Given the description of an element on the screen output the (x, y) to click on. 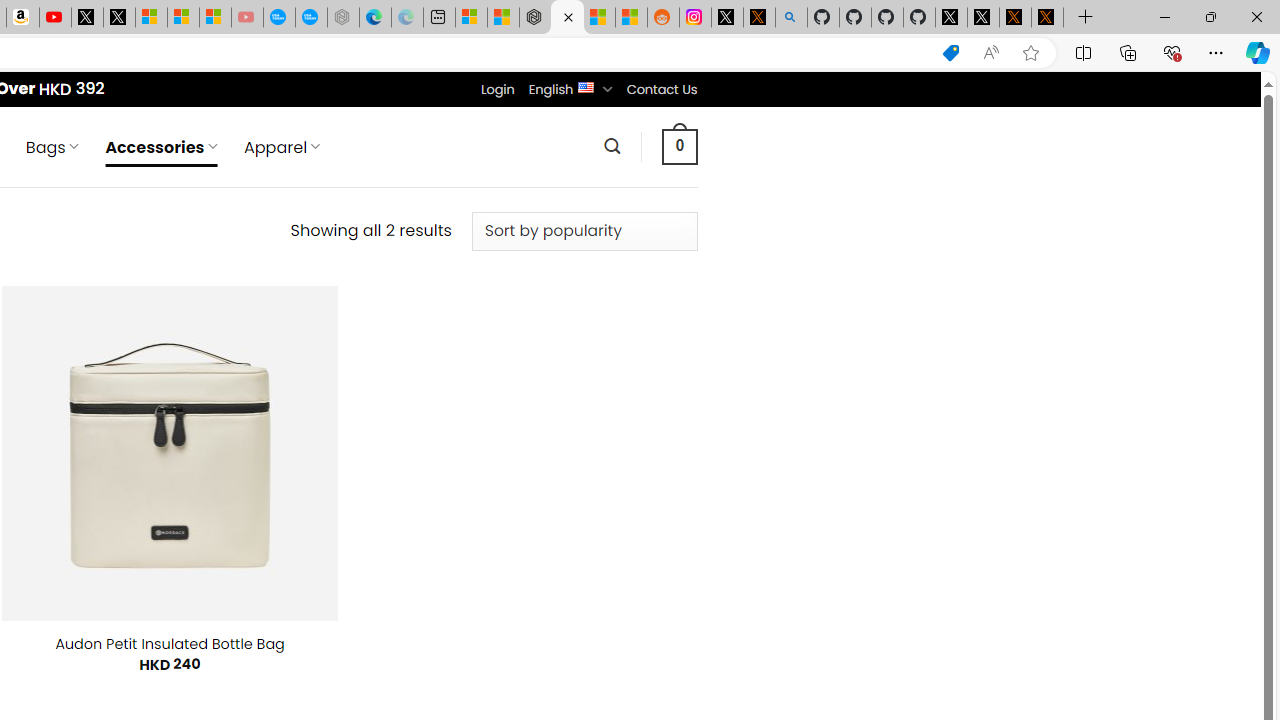
GitHub (@github) / X (983, 17)
Log in to X / X (727, 17)
Login (497, 89)
Shop order (584, 231)
Gloom - YouTube - Sleeping (246, 17)
This site has coupons! Shopping in Microsoft Edge (950, 53)
Audon Petit Insulated Bottle Bag (170, 643)
Profile / X (950, 17)
